Given the description of an element on the screen output the (x, y) to click on. 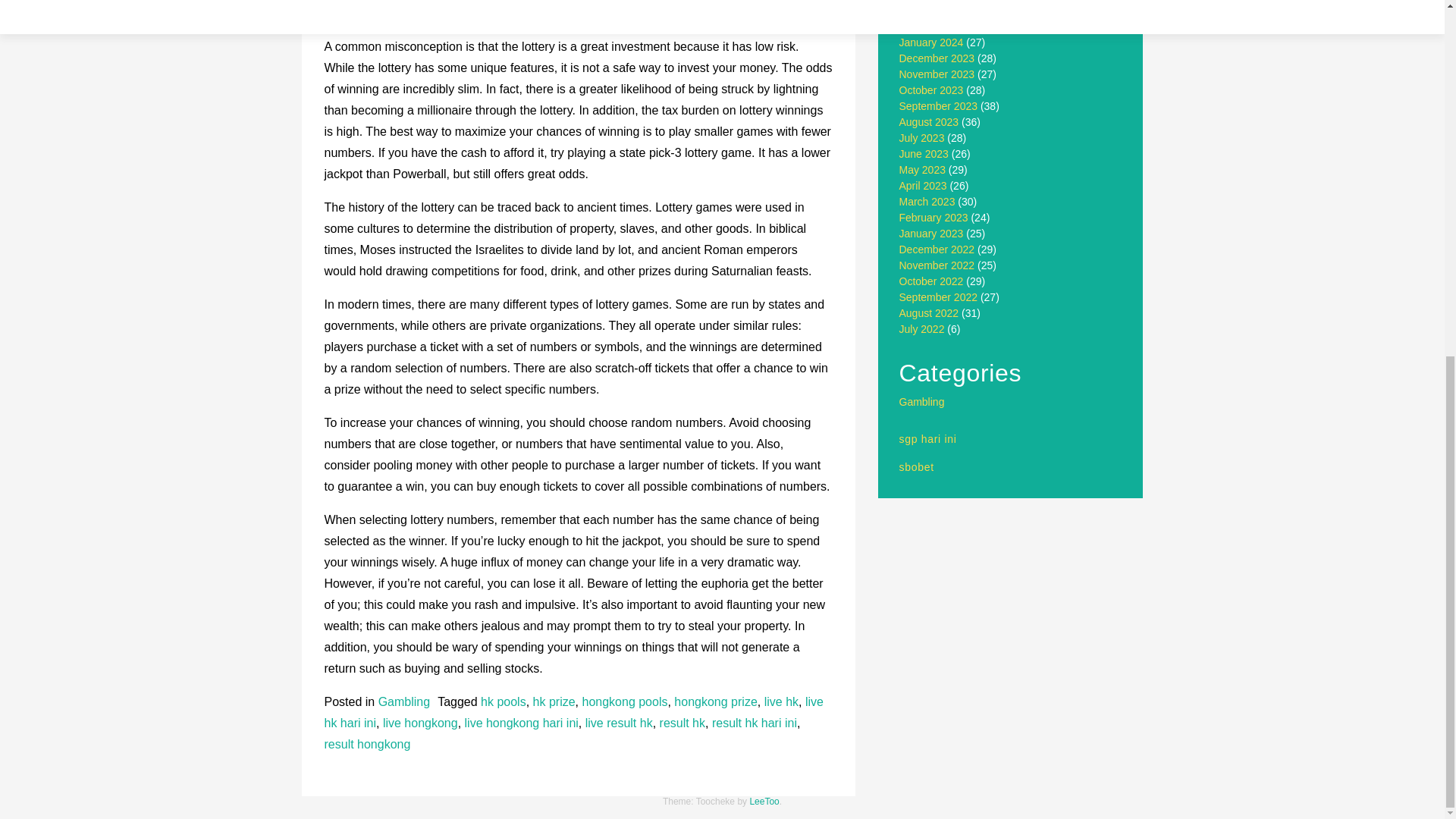
January 2024 (931, 42)
September 2023 (938, 105)
April 2024 (923, 0)
result hk (681, 722)
hk pools (502, 701)
March 2024 (927, 10)
live result hk (618, 722)
August 2023 (929, 121)
hk prize (553, 701)
May 2023 (921, 169)
